Given the description of an element on the screen output the (x, y) to click on. 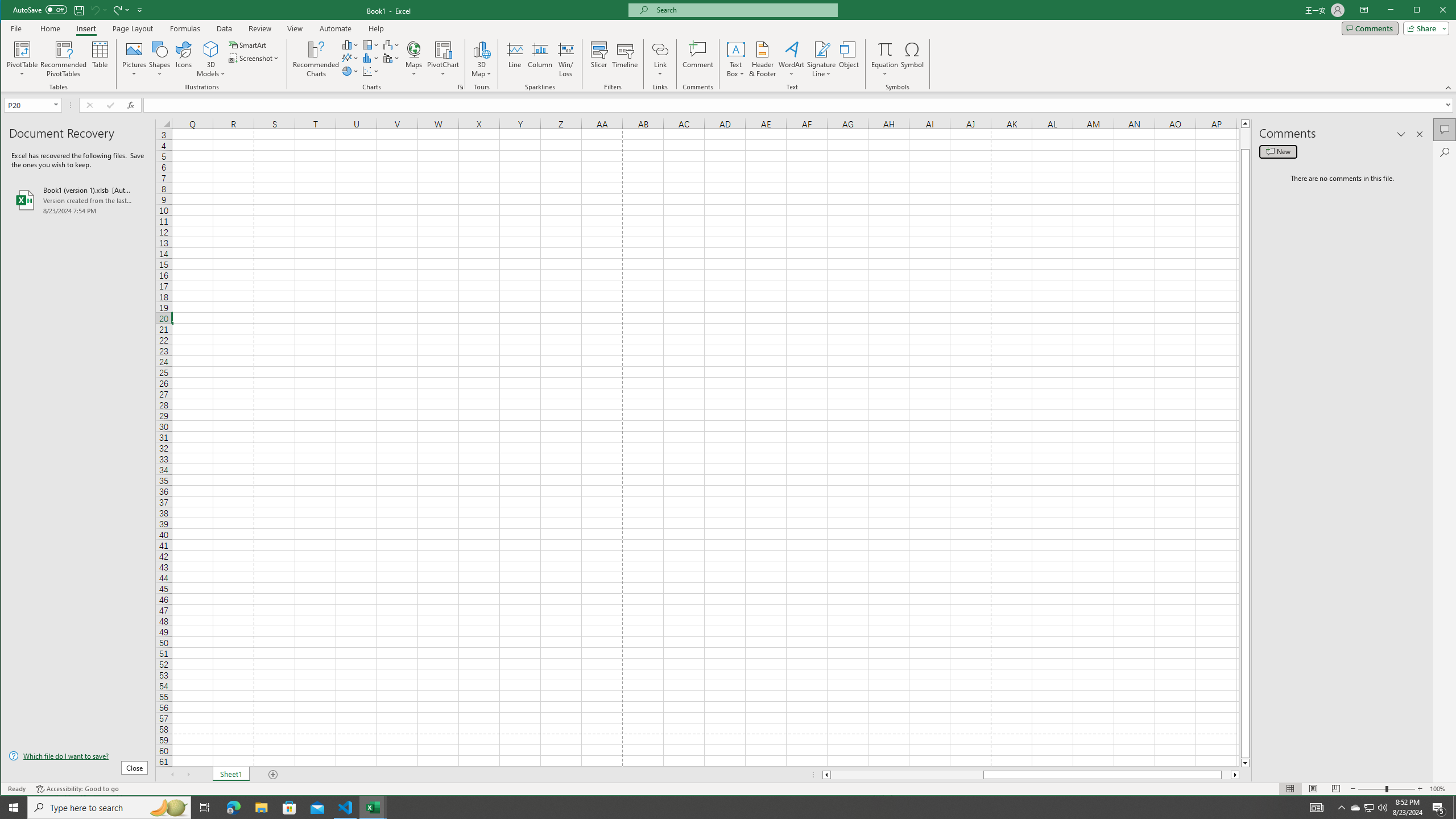
Recommended Charts (460, 86)
Signature Line (821, 59)
User Promoted Notification Area (1368, 807)
Link (659, 59)
Microsoft Edge (233, 807)
Notification Chevron (1341, 807)
Text Box (735, 59)
3D Models (211, 48)
